Given the description of an element on the screen output the (x, y) to click on. 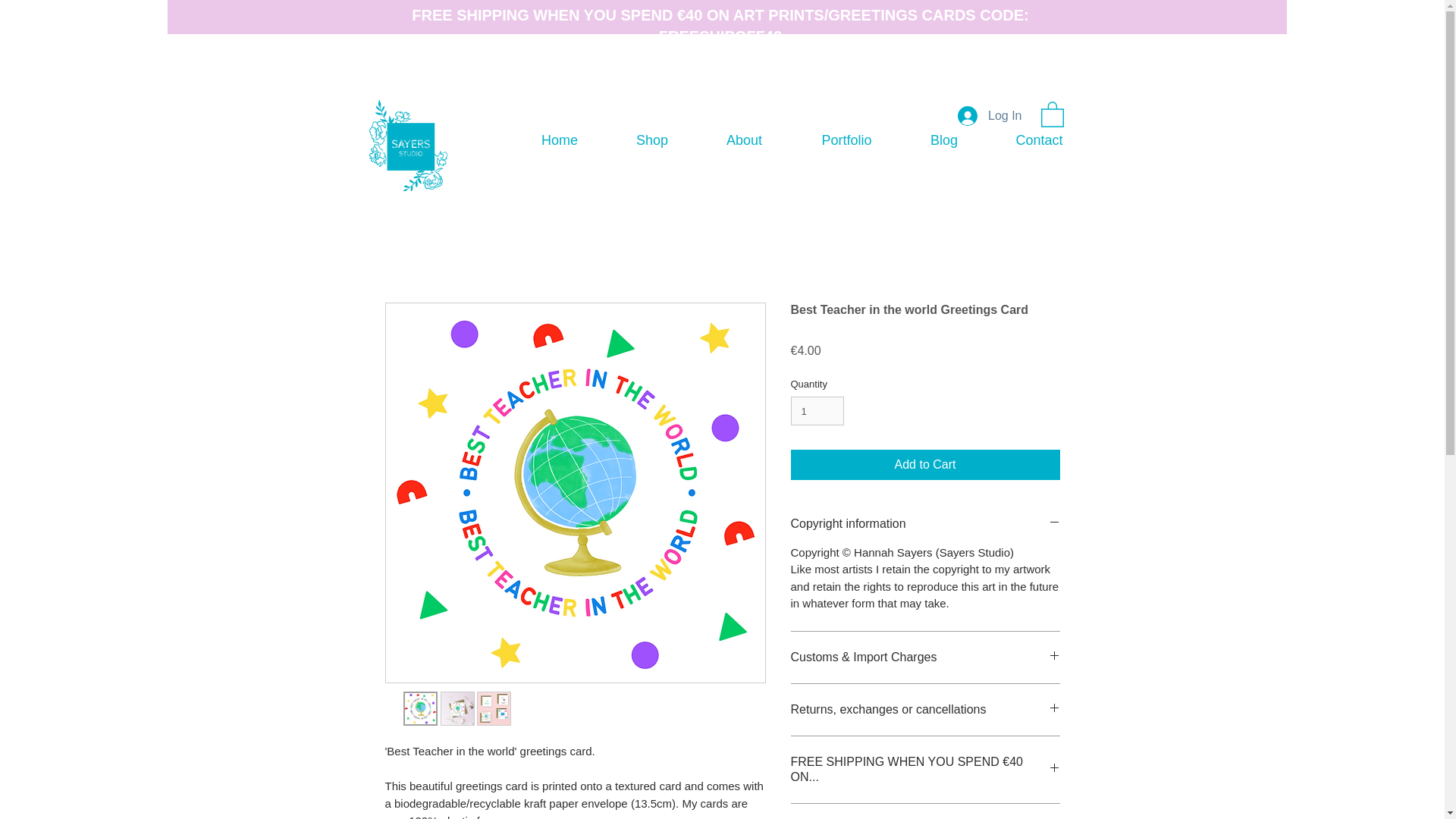
About (744, 140)
Portfolio (846, 140)
Returns, exchanges or cancellations (924, 709)
Contact (1039, 140)
Blog (944, 140)
Home (559, 140)
1 (817, 410)
Shop (652, 140)
Copyright information (924, 523)
Add to Cart (924, 464)
Log In (989, 115)
